Given the description of an element on the screen output the (x, y) to click on. 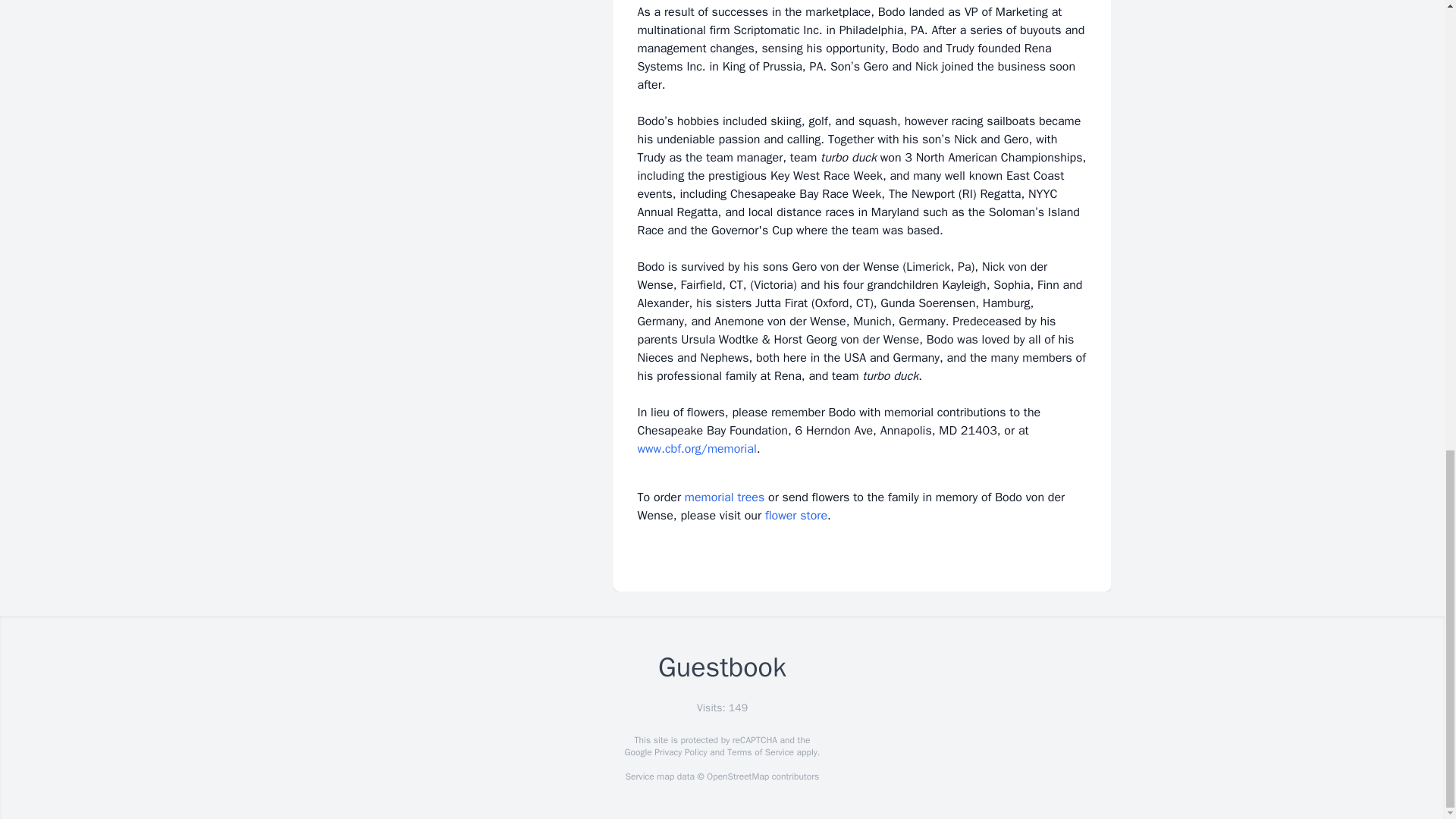
memorial trees (724, 497)
flower store (796, 515)
OpenStreetMap (737, 776)
Privacy Policy (679, 752)
Terms of Service (759, 752)
